Given the description of an element on the screen output the (x, y) to click on. 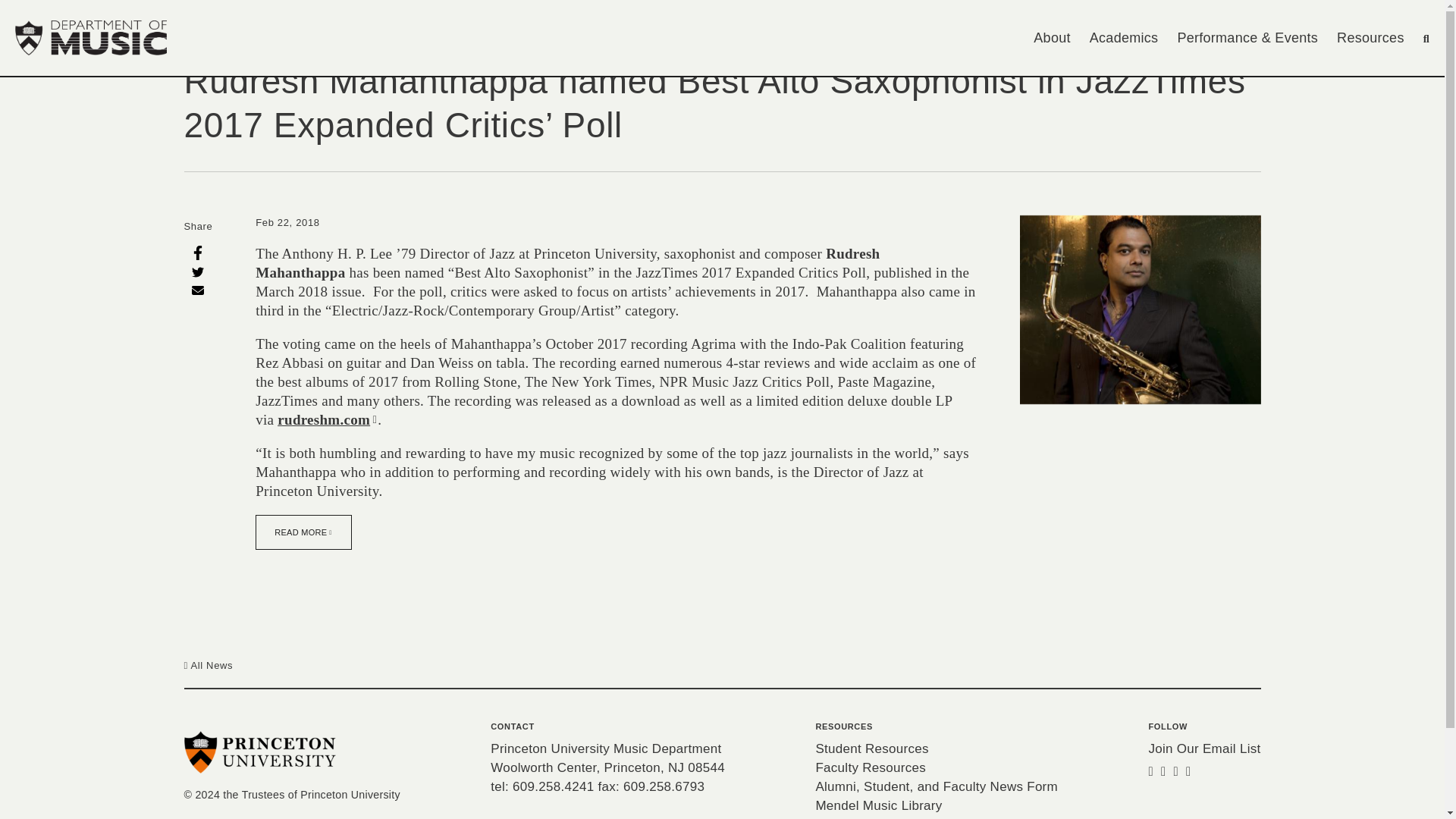
Twitter (197, 271)
Facebook (197, 251)
Email (197, 289)
